Given the description of an element on the screen output the (x, y) to click on. 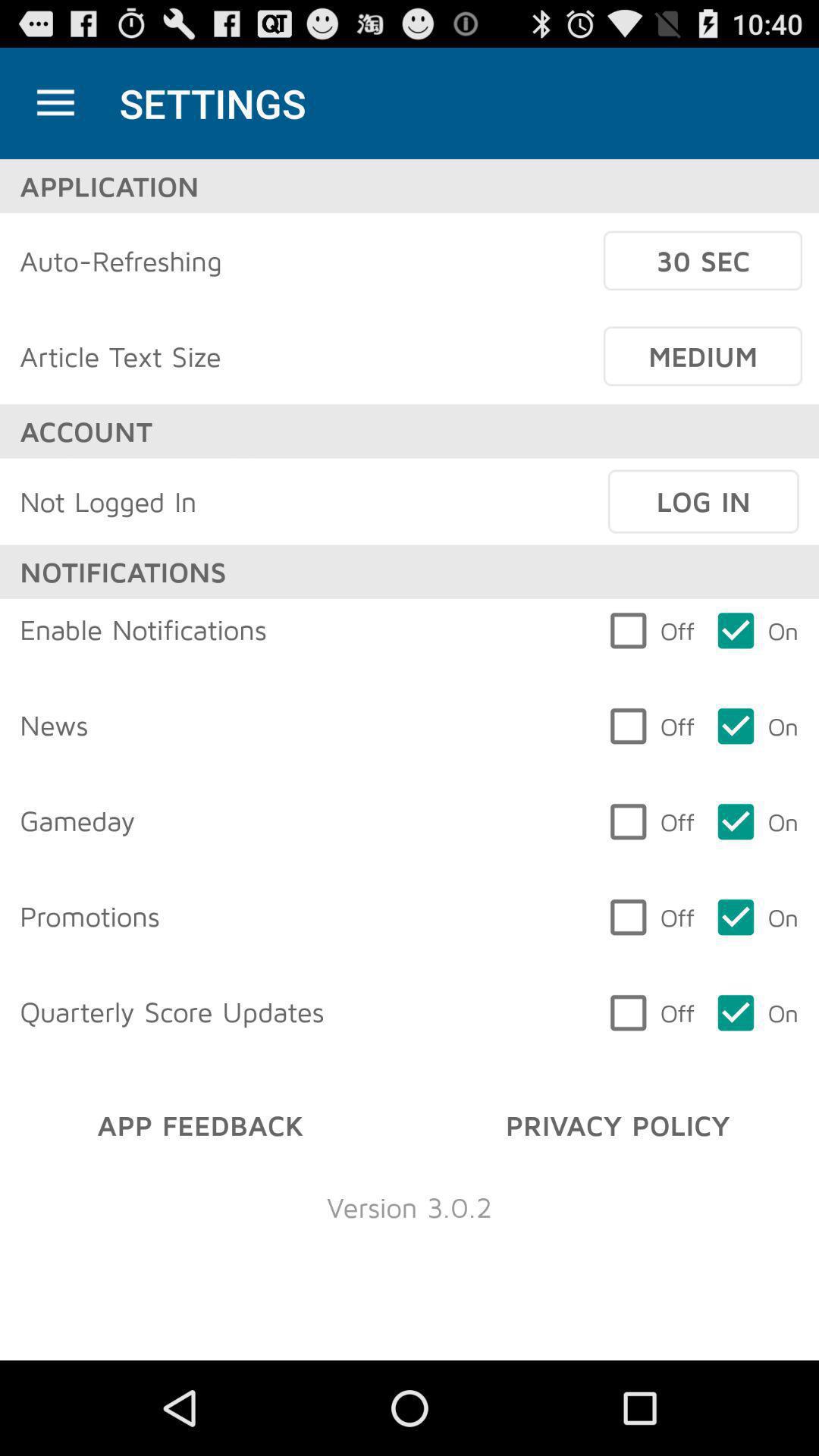
turn on the item next to the settings icon (55, 103)
